Given the description of an element on the screen output the (x, y) to click on. 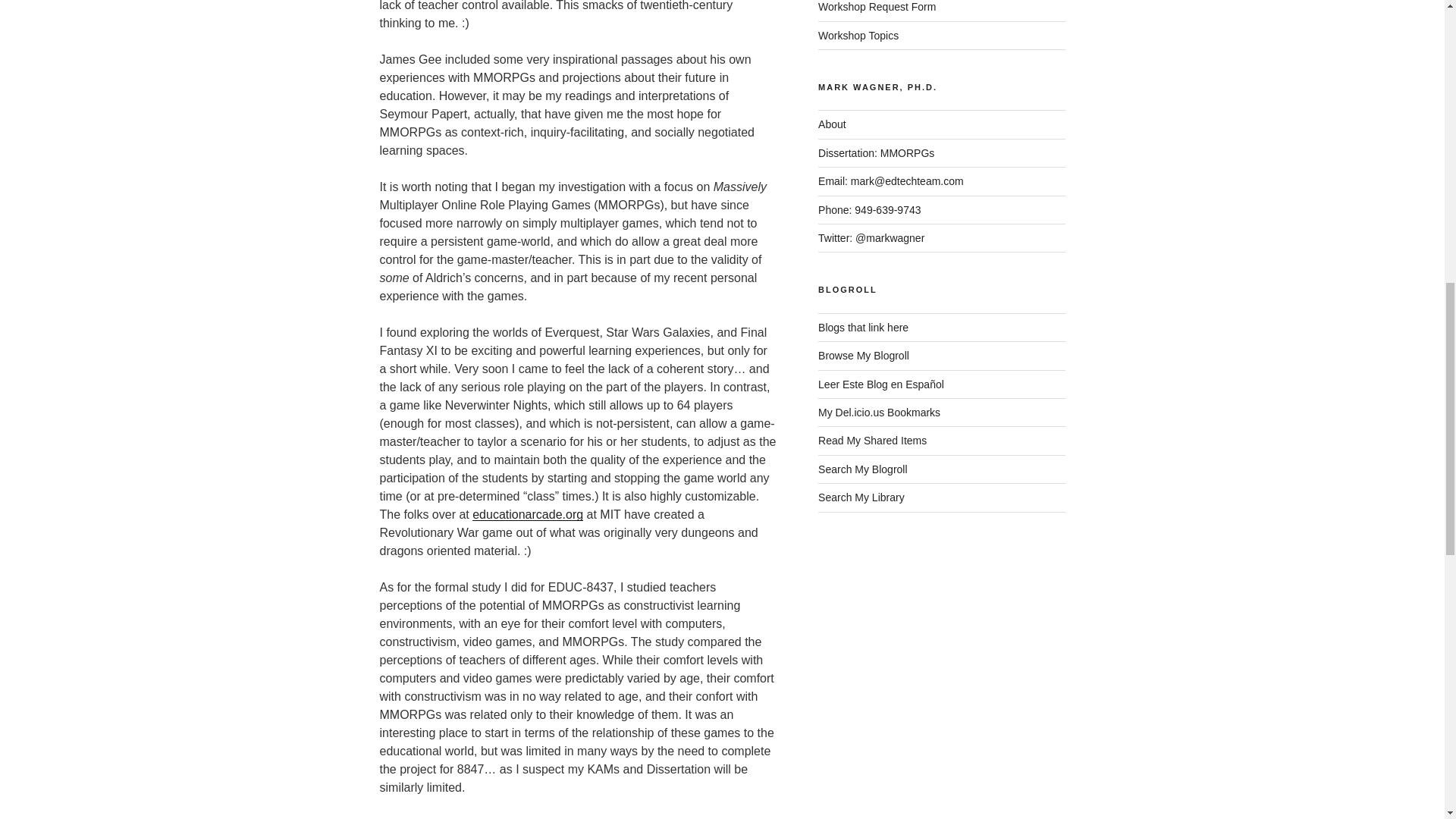
Daedalus Project (533, 818)
Workshop Topics (858, 35)
Workshop Request Form (877, 6)
My Del.icio.us Bookmarks (879, 412)
Blogs that link here (863, 327)
Read My Shared Items (872, 440)
Powered by Technorati (863, 327)
Search My Library (861, 497)
Phone: 949-639-9743 (869, 209)
Search My Blogroll (862, 469)
